Given the description of an element on the screen output the (x, y) to click on. 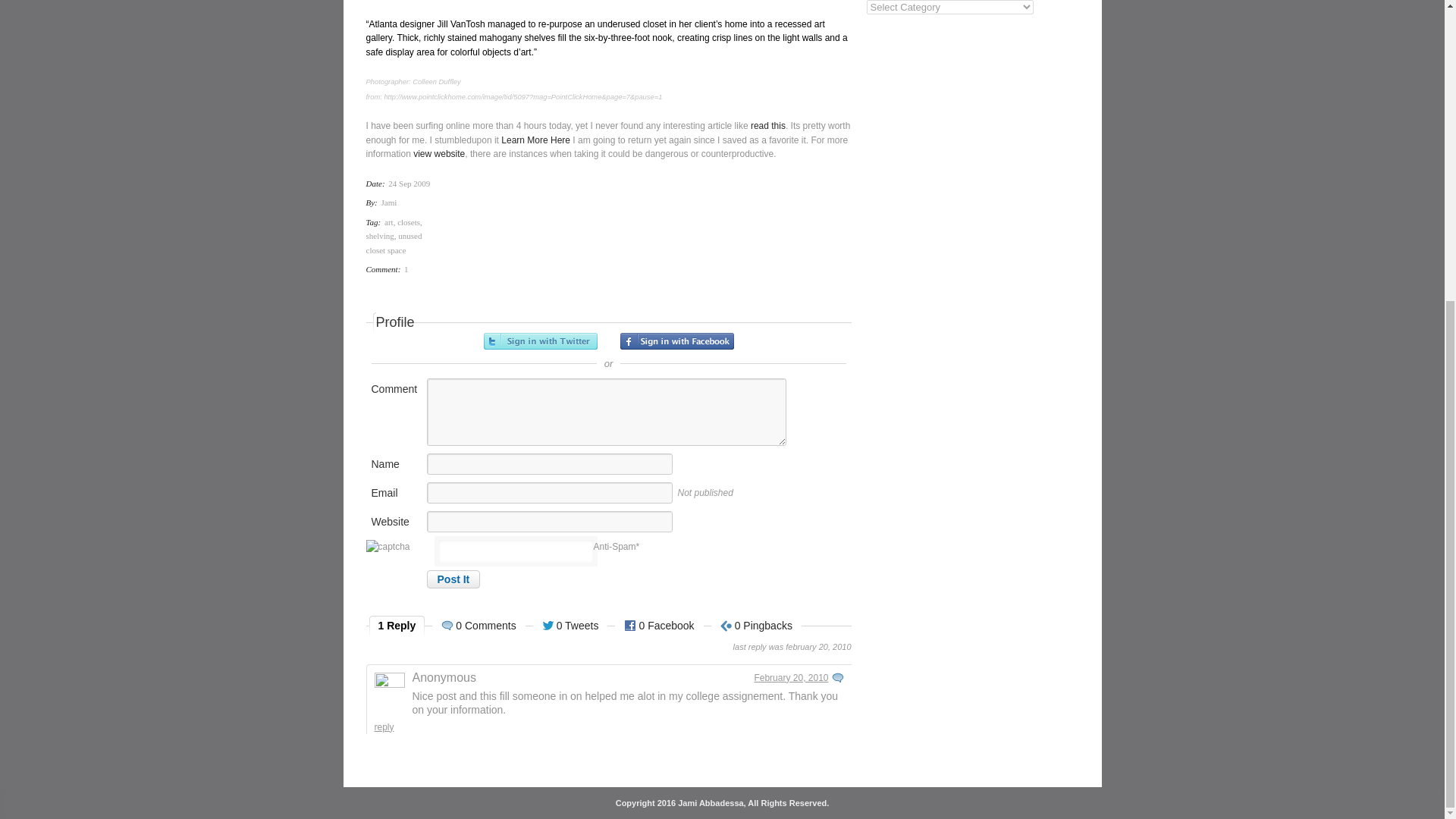
read this (768, 125)
February 20, 2010 (791, 676)
0 Comments (478, 626)
Jami (389, 202)
0 Pingbacks (756, 626)
Sign in with Facebook (676, 340)
closets (408, 221)
Post It (453, 579)
1 Reply (398, 626)
0 Tweets (570, 626)
